Given the description of an element on the screen output the (x, y) to click on. 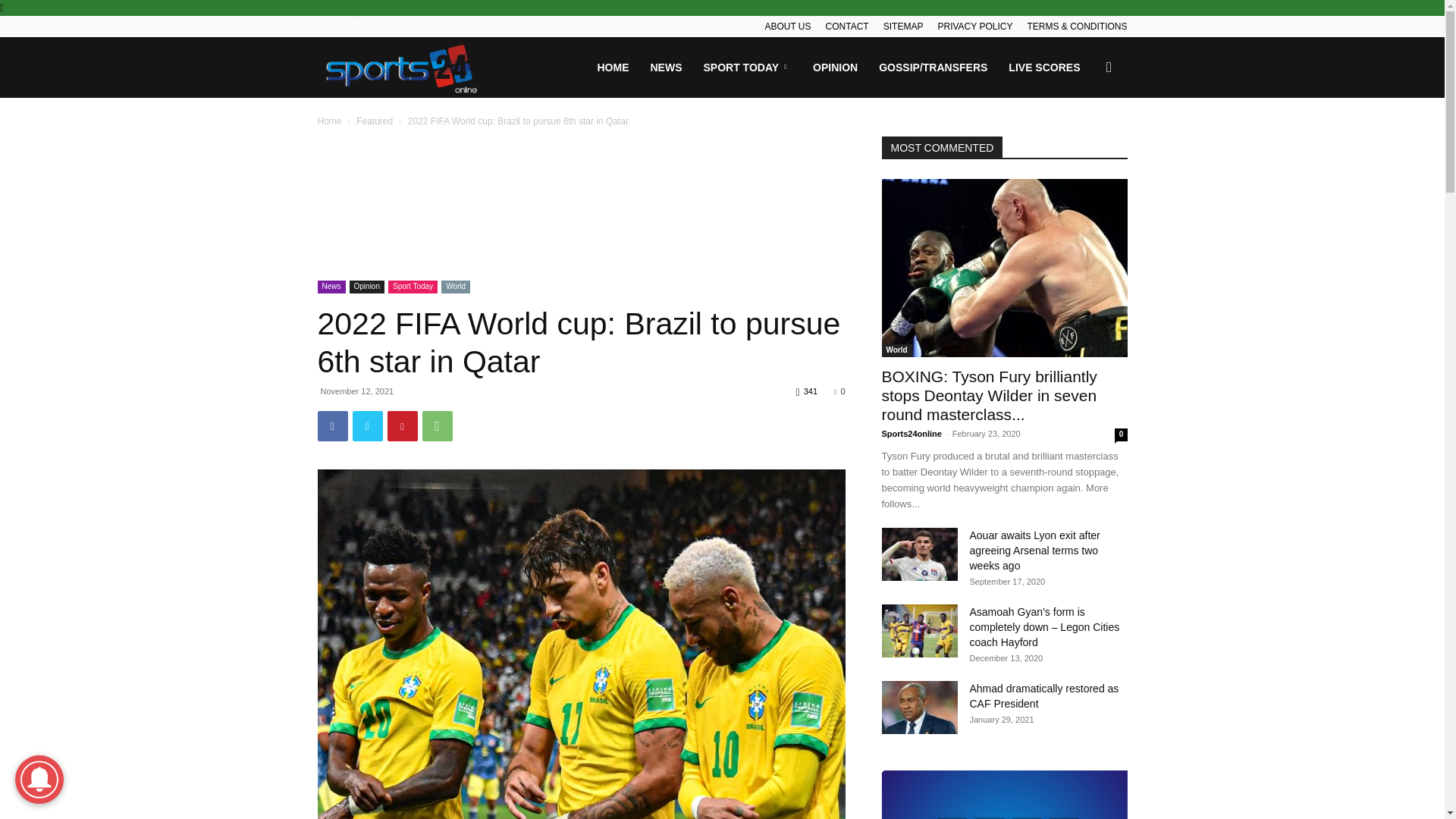
Twitter (379, 25)
Facebook (328, 25)
Search (1085, 139)
PRIVACY POLICY (974, 26)
Instagram (353, 25)
CONTACT (847, 26)
SPORT TODAY (748, 66)
Youtube (403, 25)
Sports24online (401, 67)
SITEMAP (903, 26)
ABOUT US (787, 26)
